Given the description of an element on the screen output the (x, y) to click on. 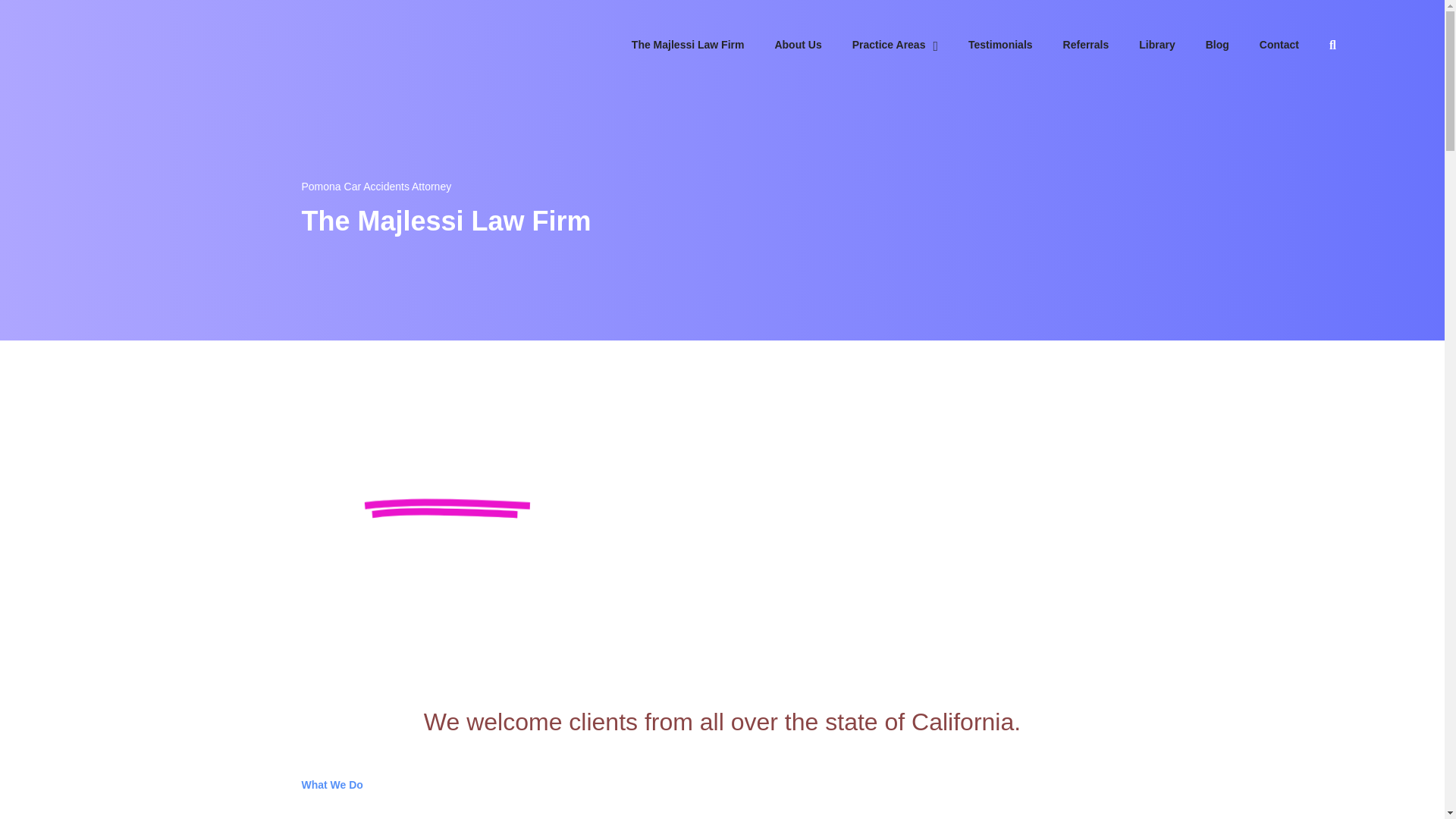
Library (1171, 44)
The Majlessi Law Firm (702, 44)
Practice Areas (909, 45)
Testimonials (1015, 44)
About Us (812, 44)
Blog (1232, 44)
Referrals (1101, 44)
